Given the description of an element on the screen output the (x, y) to click on. 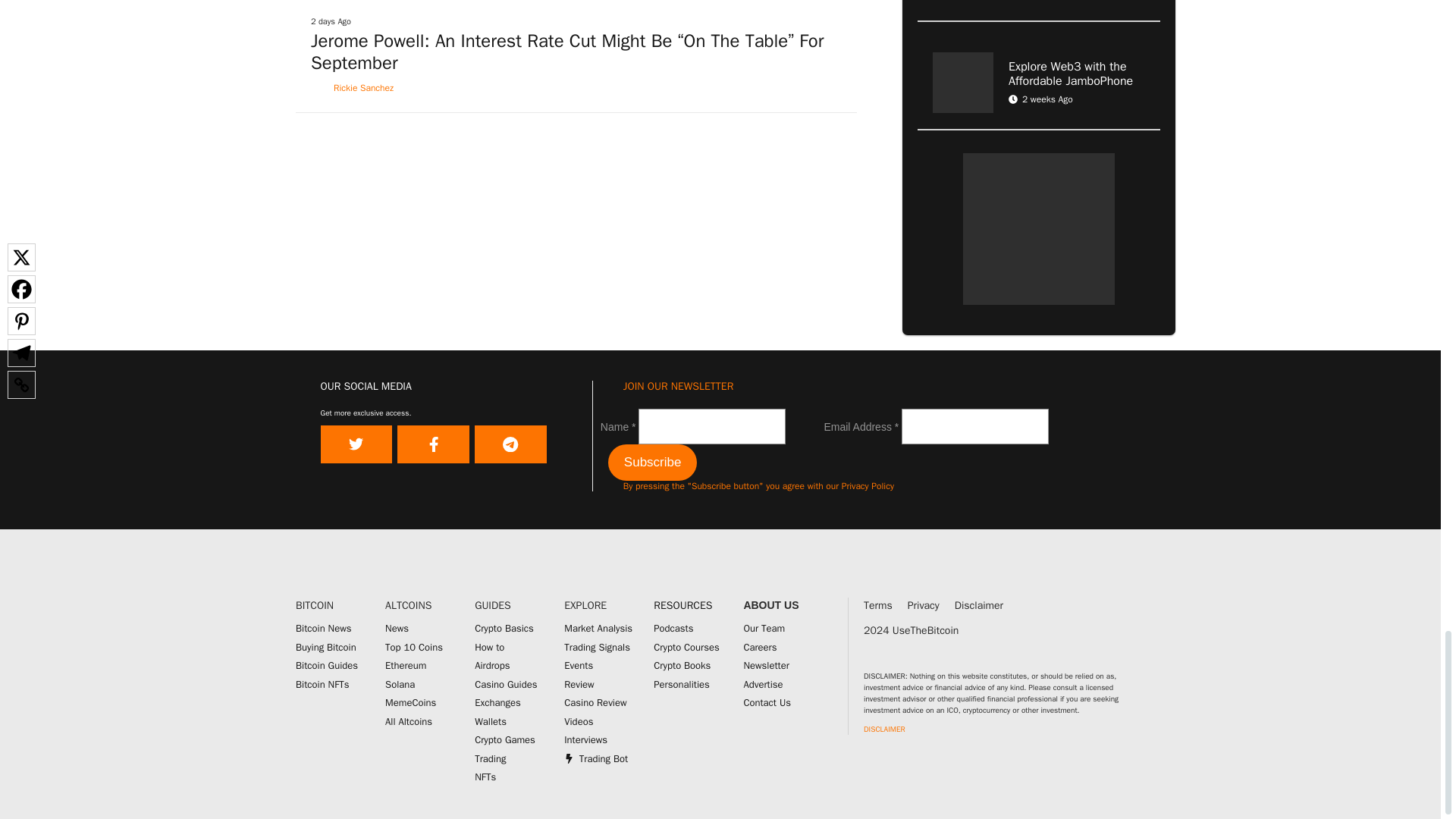
Subscribe (652, 462)
